Given the description of an element on the screen output the (x, y) to click on. 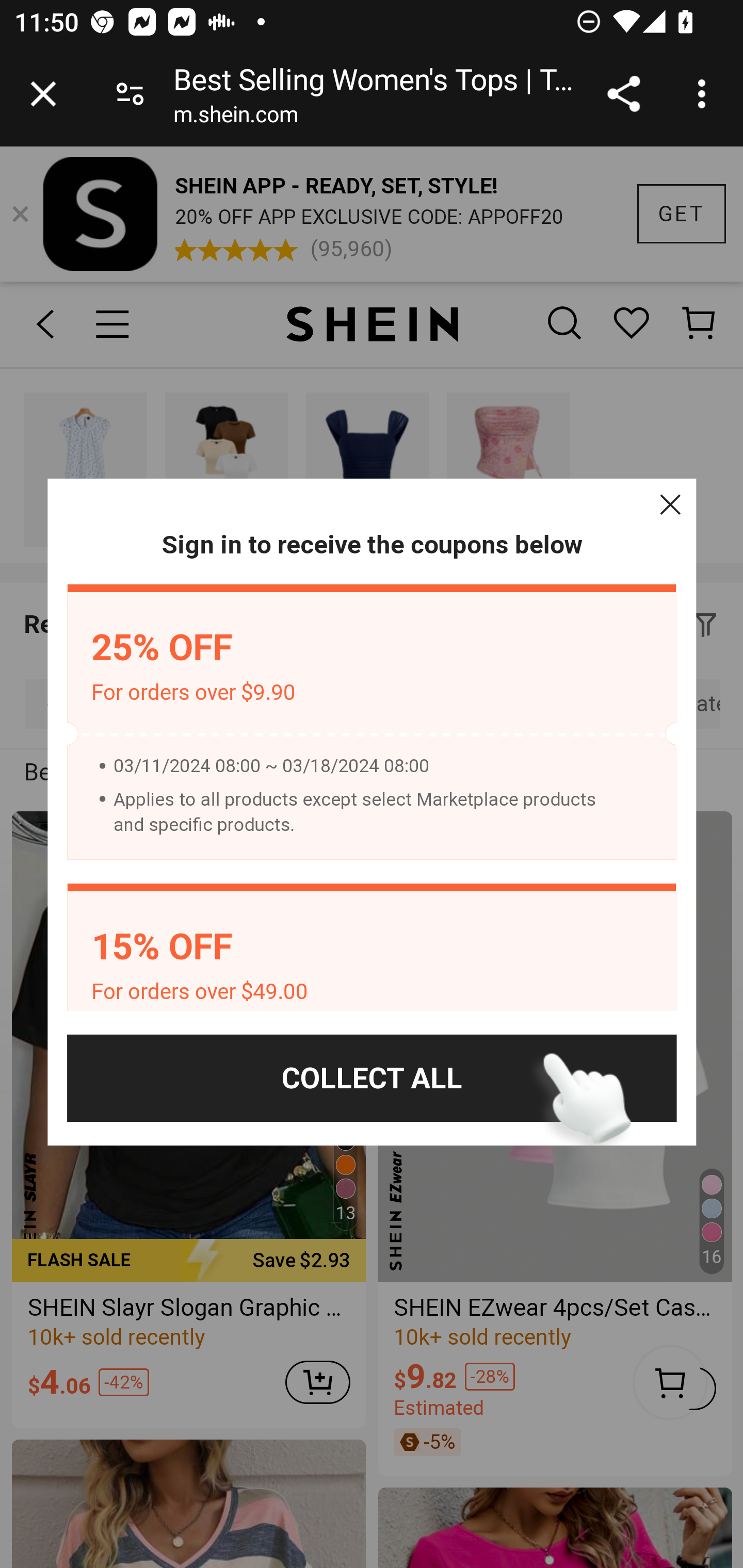
Close tab (43, 93)
Share link address (623, 93)
Customize and control Google Chrome (705, 93)
Connection is secure (129, 93)
m.shein.com (235, 117)
Close (669, 503)
COLLECT ALL (371, 1077)
